Given the description of an element on the screen output the (x, y) to click on. 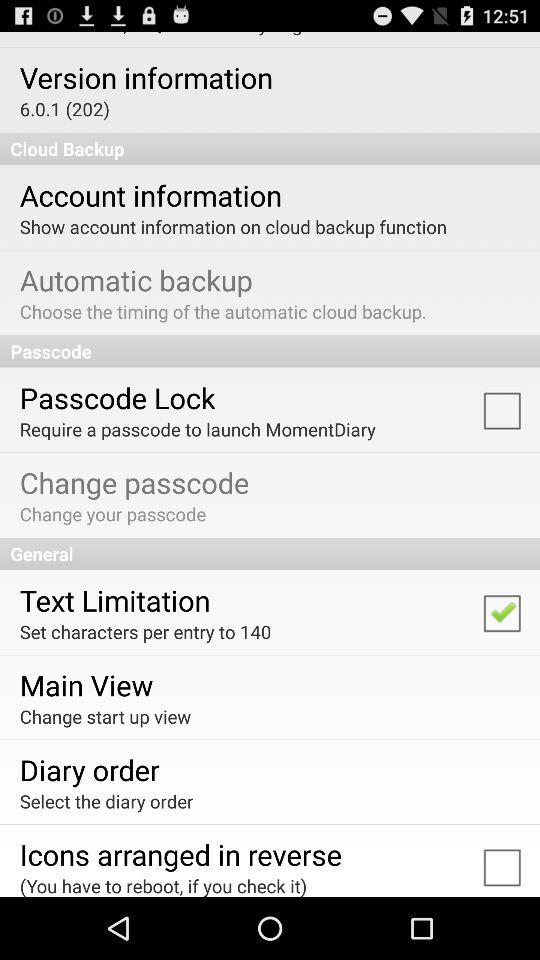
jump to the version information app (146, 77)
